Given the description of an element on the screen output the (x, y) to click on. 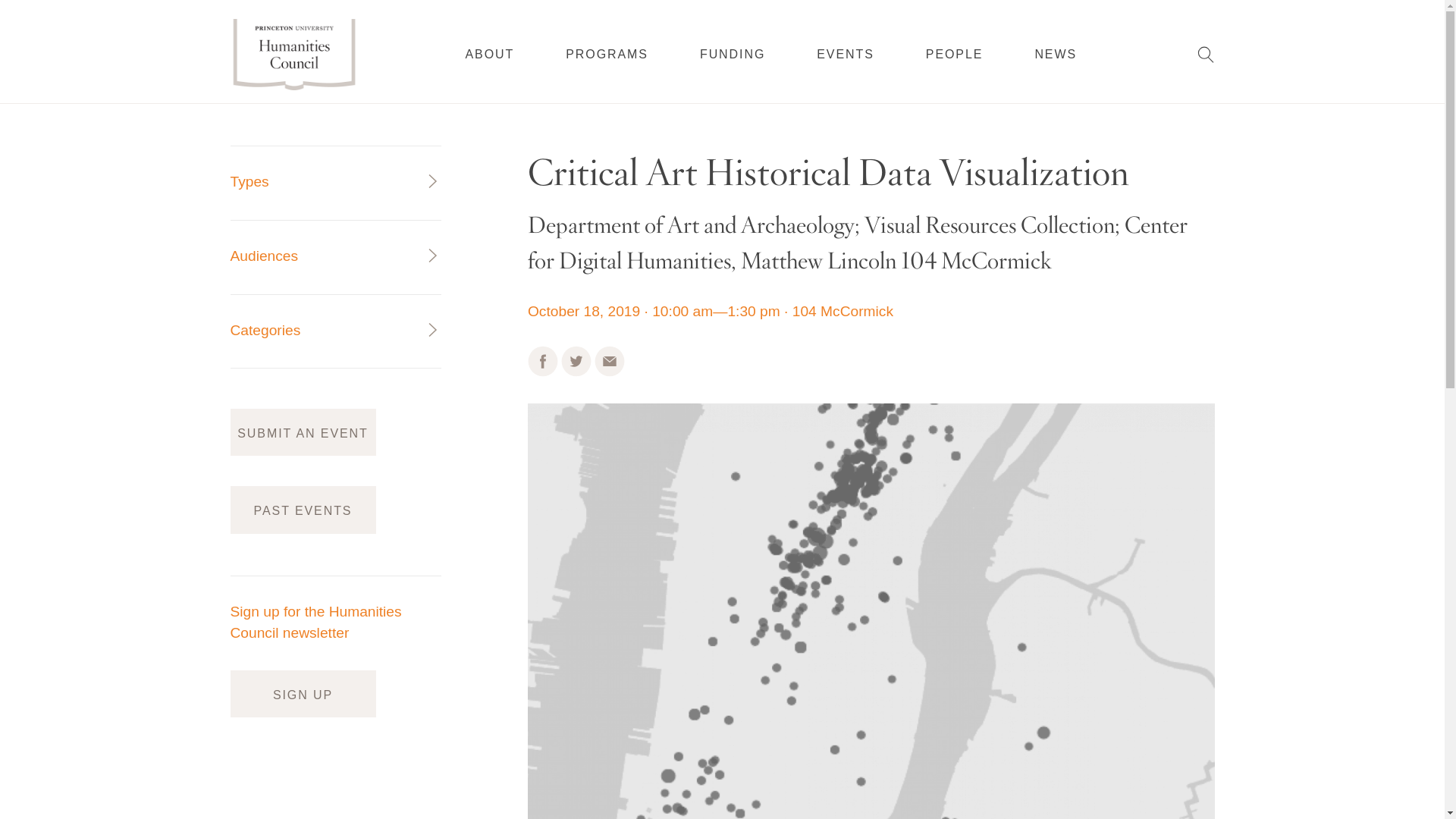
ABOUT (490, 54)
FUNDING (732, 54)
EVENTS (845, 54)
NEWS (1055, 53)
PROGRAMS (606, 54)
PEOPLE (955, 53)
